Given the description of an element on the screen output the (x, y) to click on. 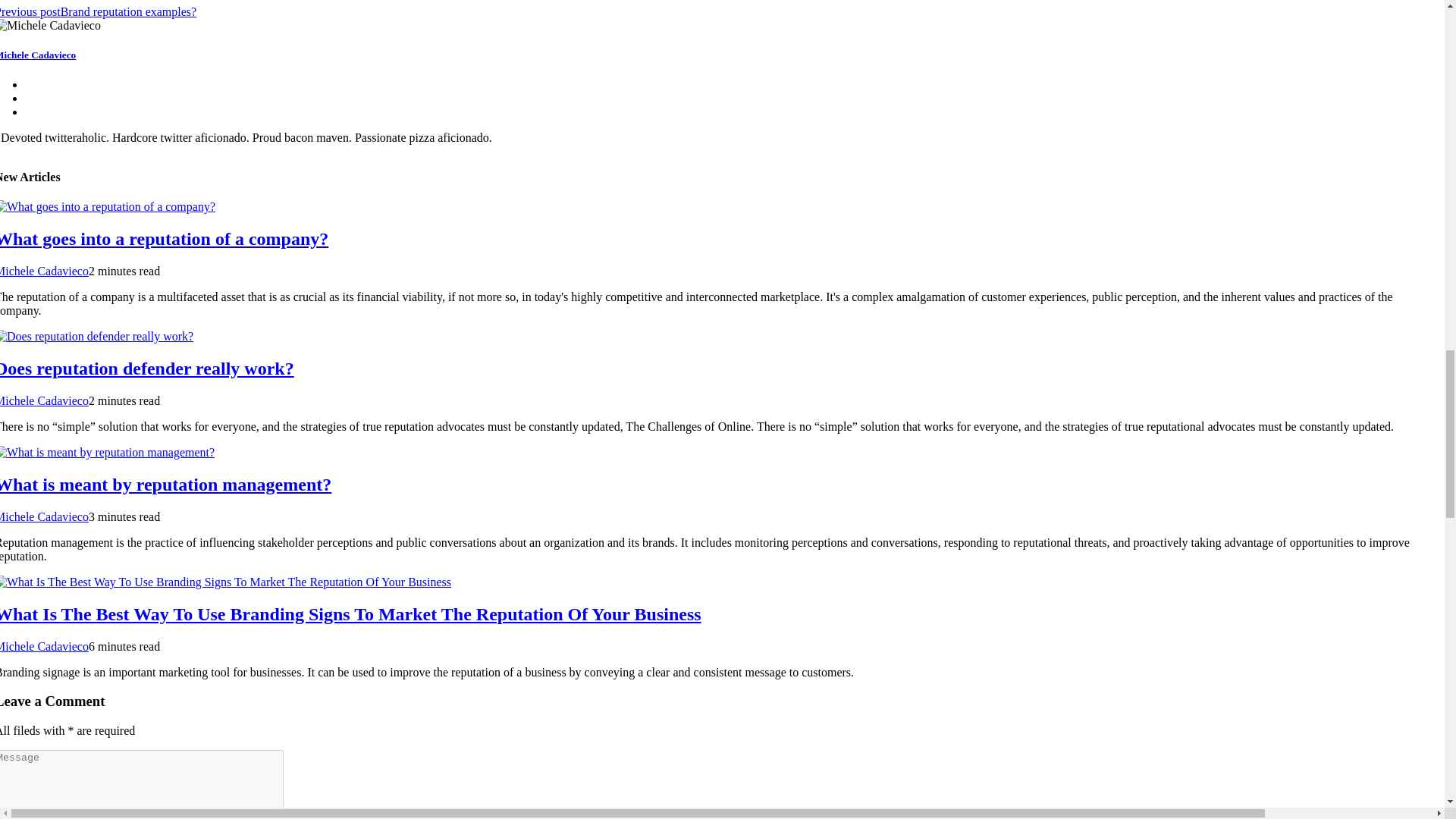
What goes into a reputation of a company? (164, 238)
Posts by Michele Cadavieco (44, 400)
Michele Cadavieco (44, 645)
Posts by Michele Cadavieco (44, 645)
Previous postBrand reputation examples? (98, 11)
Michele Cadavieco (37, 54)
What is meant by reputation management? (165, 484)
Michele Cadavieco (44, 400)
Does reputation defender really work? (147, 368)
Posts by Michele Cadavieco (44, 516)
Michele Cadavieco (44, 516)
Posts by Michele Cadavieco (44, 270)
Michele Cadavieco (44, 270)
